Given the description of an element on the screen output the (x, y) to click on. 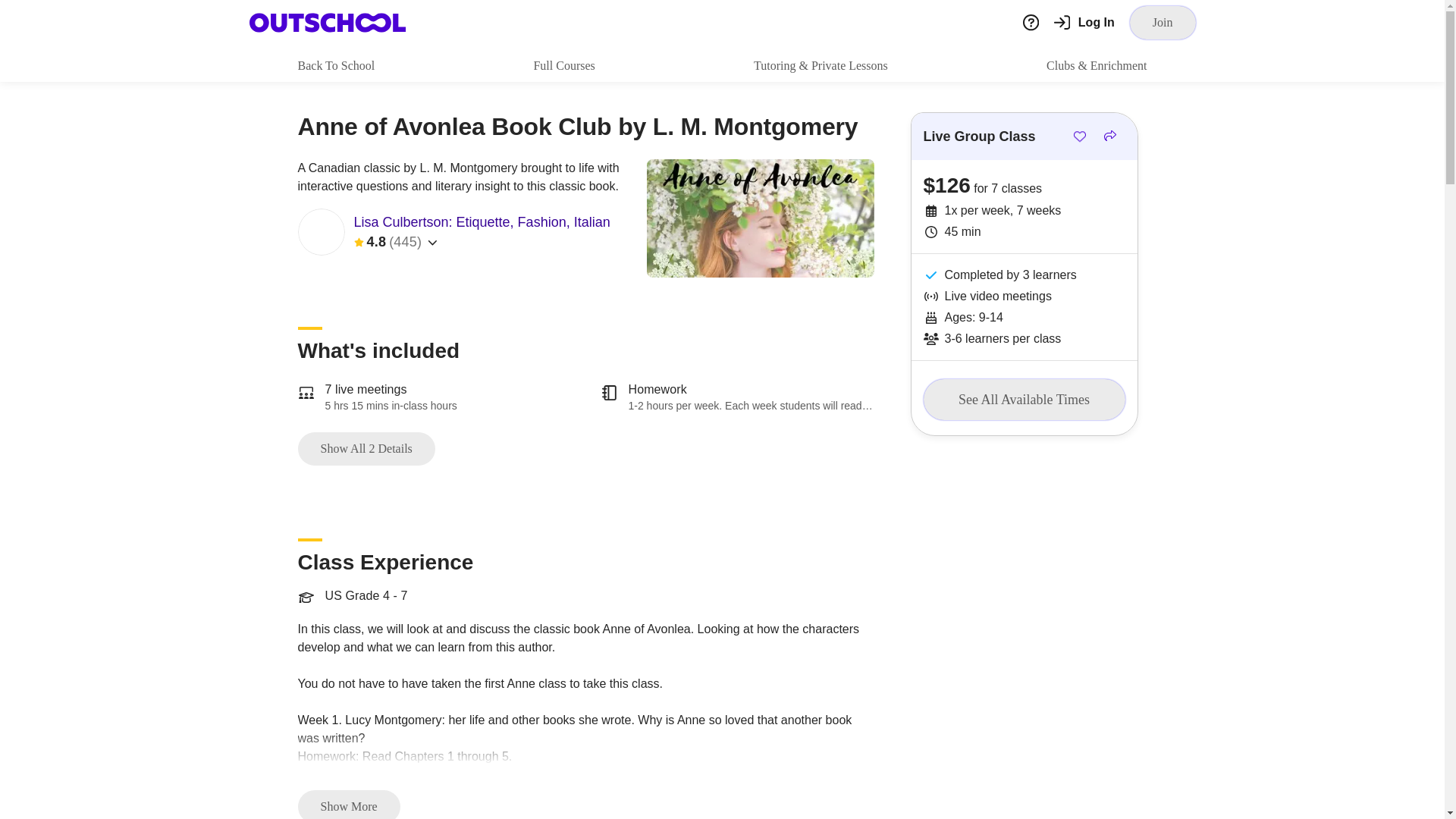
Back To School (335, 65)
Full Courses (563, 65)
Show More (347, 804)
Join (1162, 22)
Log In (1084, 22)
See All Available Times (1024, 399)
Show All 2 Details (365, 449)
